Given the description of an element on the screen output the (x, y) to click on. 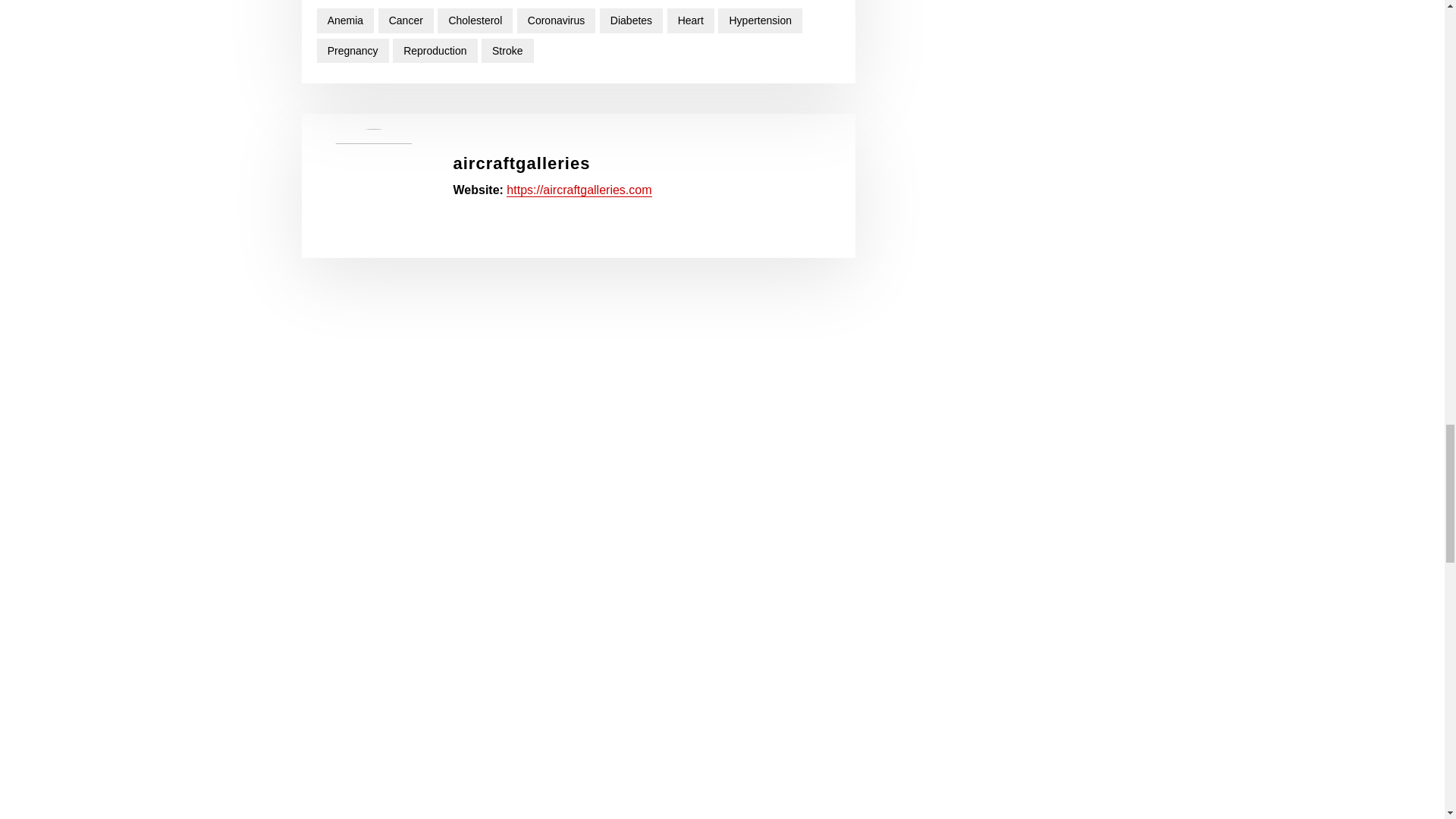
Stroke (507, 50)
Reproduction (435, 50)
Hypertension (759, 20)
aircraftgalleries (521, 162)
Coronavirus (555, 20)
Heart (690, 20)
Cholesterol (475, 20)
Cancer (405, 20)
Anemia (345, 20)
Pregnancy (352, 50)
